Given the description of an element on the screen output the (x, y) to click on. 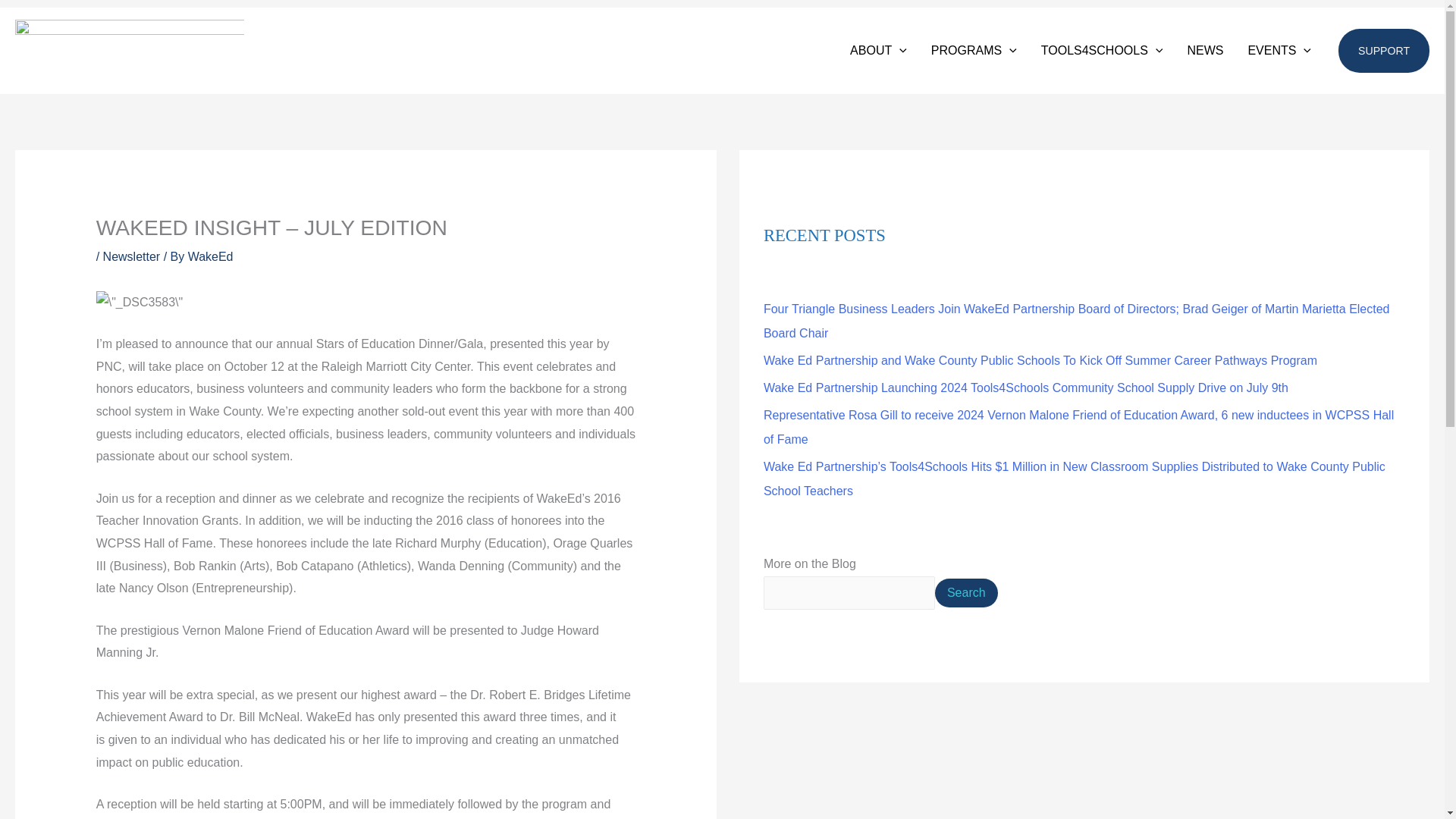
PROGRAMS (973, 50)
SUPPORT (1383, 50)
EVENTS (1278, 50)
View all posts by WakeEd (209, 256)
ABOUT (878, 50)
NEWS (1204, 50)
TOOLS4SCHOOLS (1101, 50)
